Given the description of an element on the screen output the (x, y) to click on. 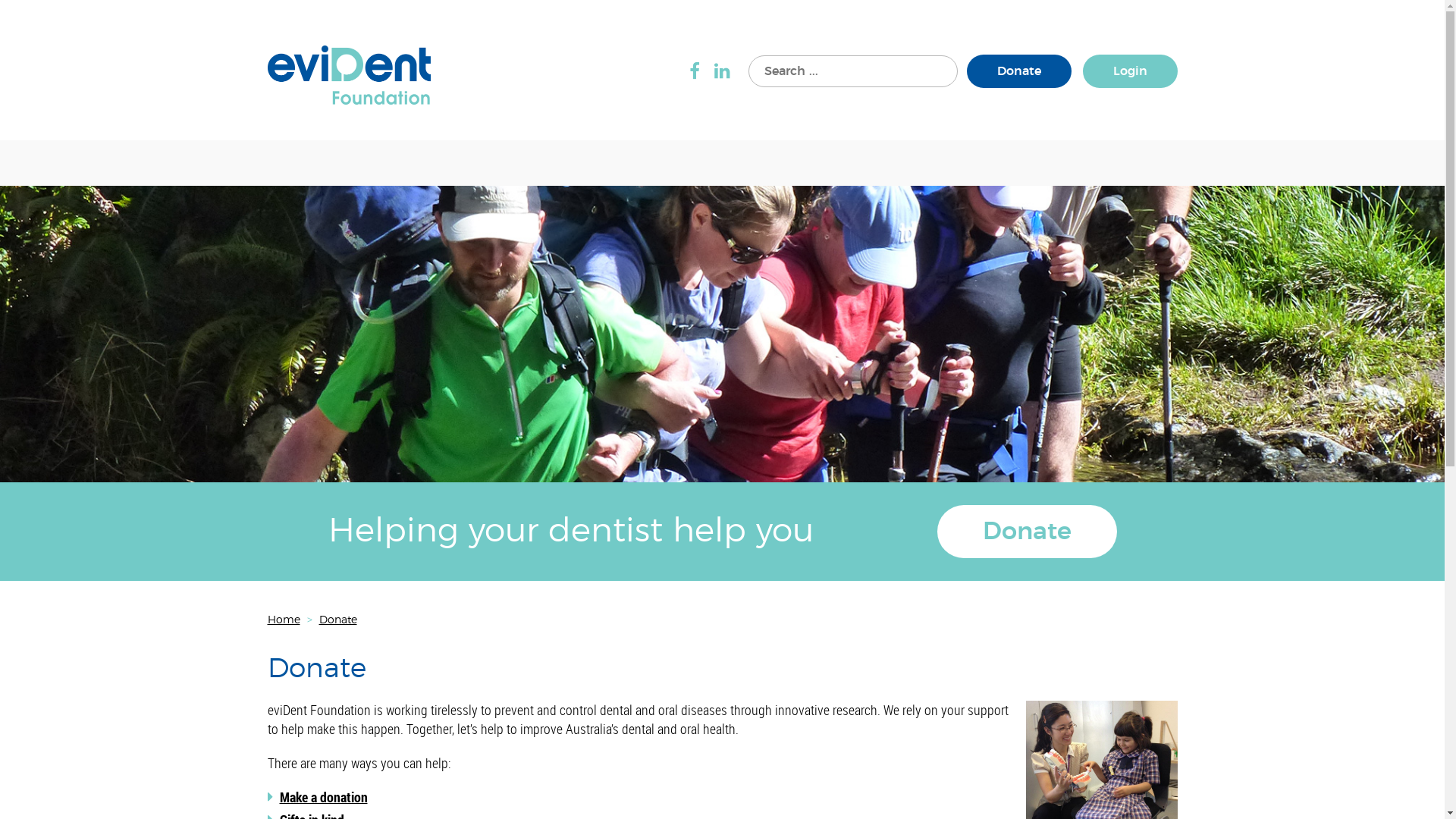
Donate Element type: text (1027, 531)
Login Element type: text (1129, 70)
Home Element type: text (282, 620)
Donate Element type: text (1018, 70)
Make a donation Element type: text (323, 796)
Donate Element type: text (337, 620)
